Given the description of an element on the screen output the (x, y) to click on. 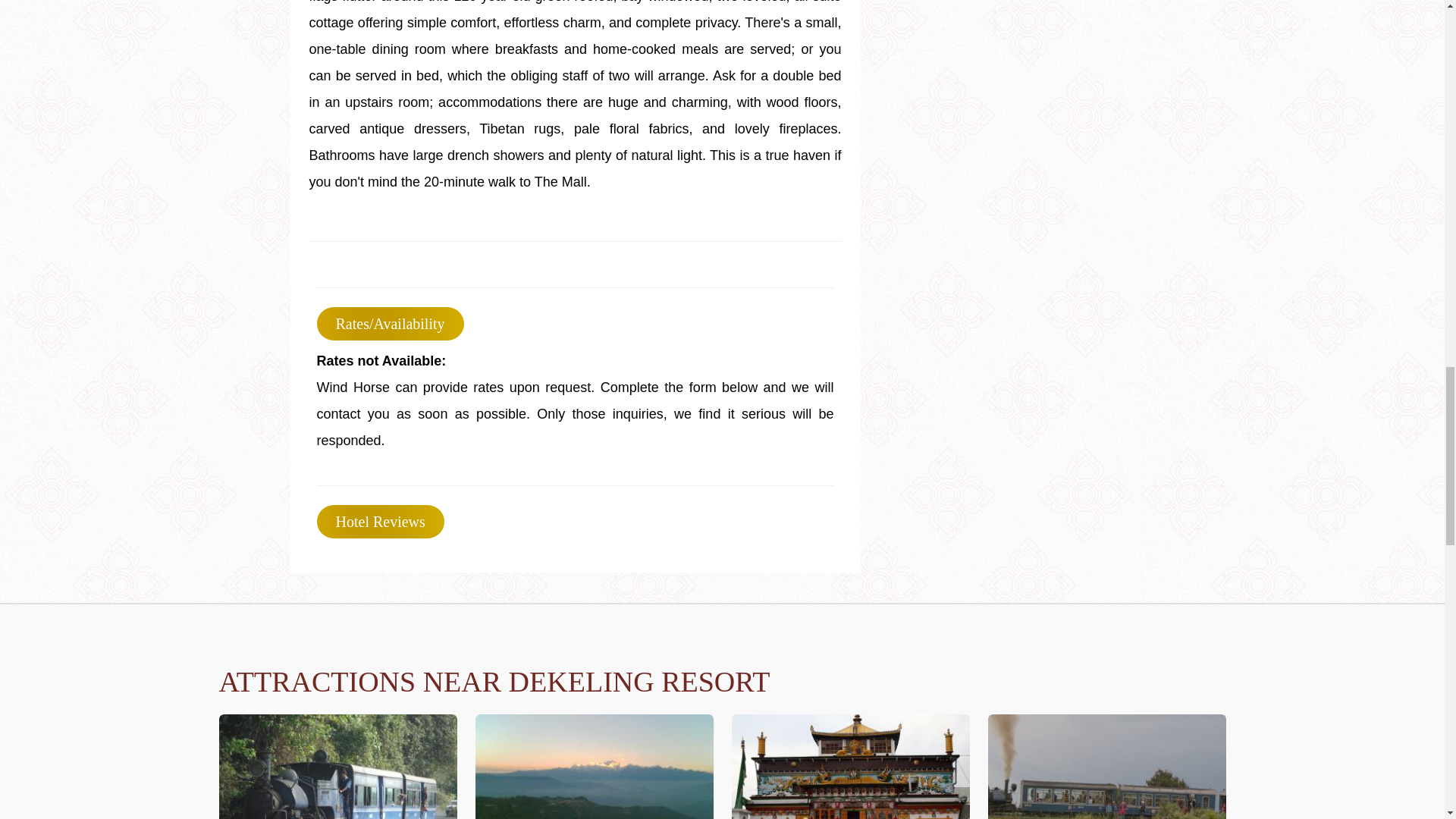
Ghoom Monastery (849, 766)
Darjeeling Train (337, 766)
Batasia Loop (1106, 766)
Tiger Hill (593, 766)
